Given the description of an element on the screen output the (x, y) to click on. 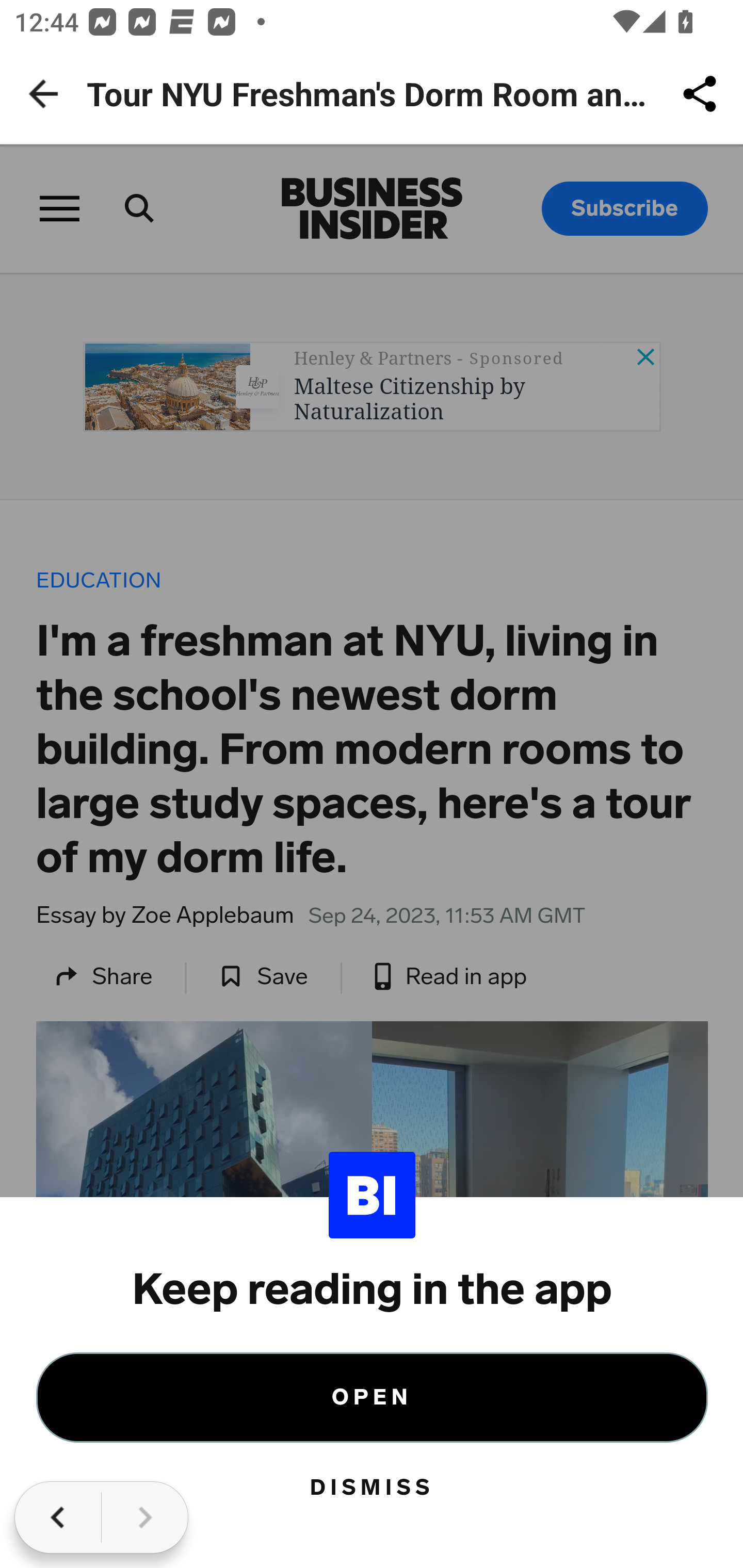
OPEN (372, 1397)
DISMISS (372, 1487)
